Given the description of an element on the screen output the (x, y) to click on. 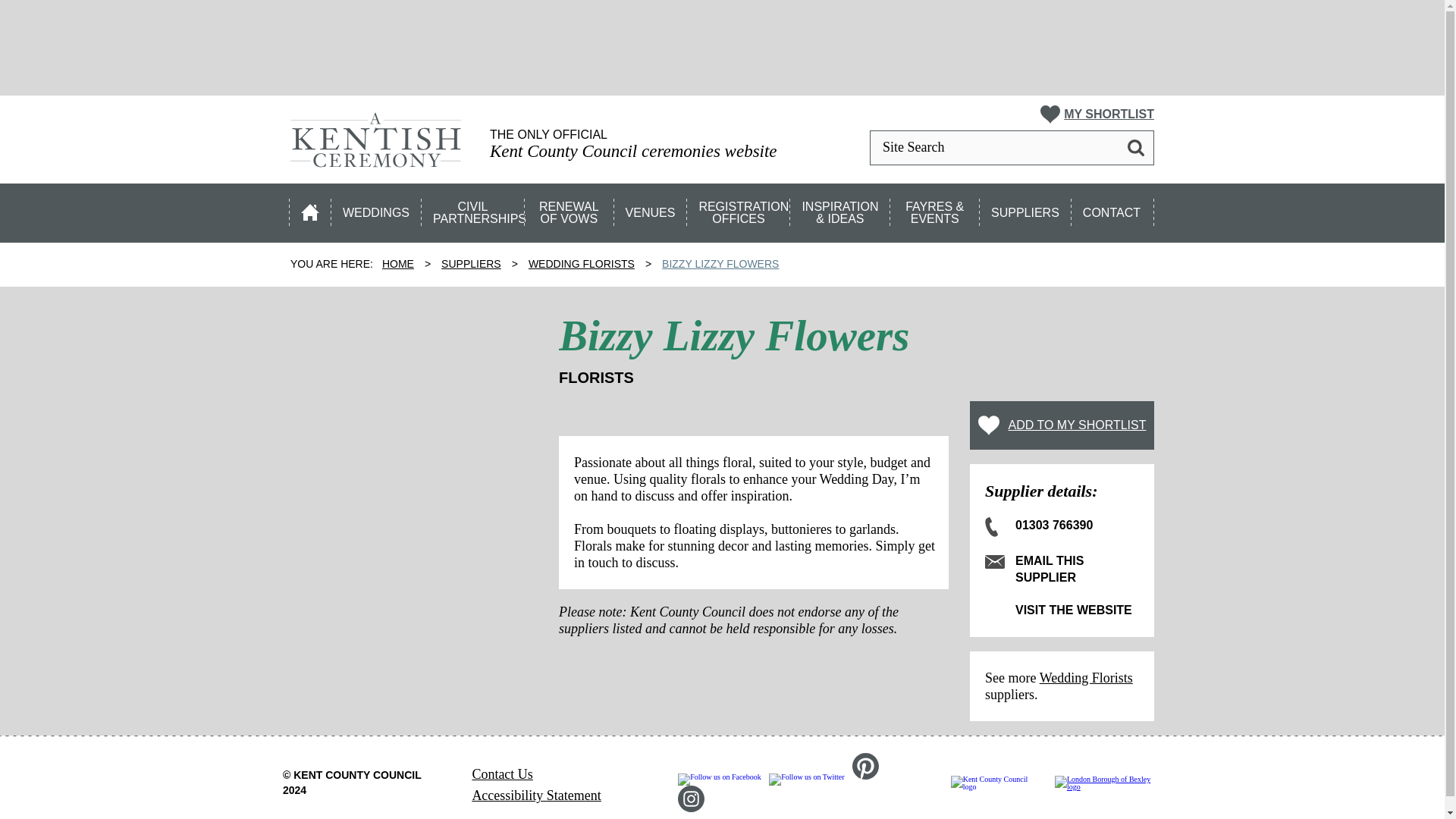
CIVIL PARTNERSHIPS (473, 209)
REGISTRATION OFFICES (738, 209)
MY SHORTLIST (1097, 114)
RENEWAL OF VOWS (569, 209)
SUPPLIERS (1025, 209)
WEDDINGS (376, 209)
CONTACT (1112, 209)
VENUES (651, 209)
